Given the description of an element on the screen output the (x, y) to click on. 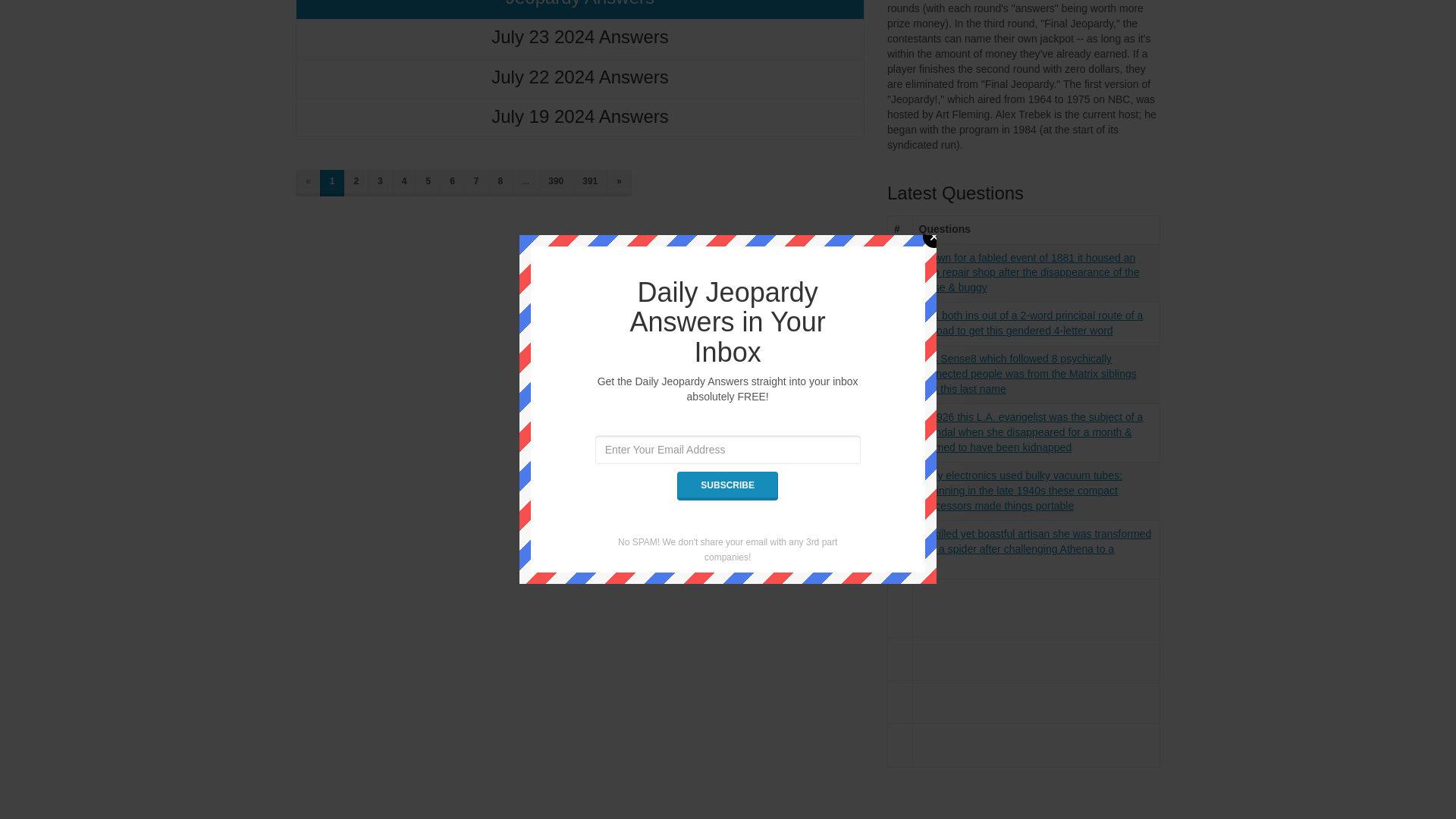
2 (355, 182)
Jeopardy Answers (579, 9)
391 (589, 182)
8 (500, 182)
July 19 2024 Answers (579, 118)
3 (380, 182)
6 (451, 182)
390 (555, 182)
Subscribe (727, 213)
7 (476, 182)
July 23 2024 Answers (579, 38)
